Given the description of an element on the screen output the (x, y) to click on. 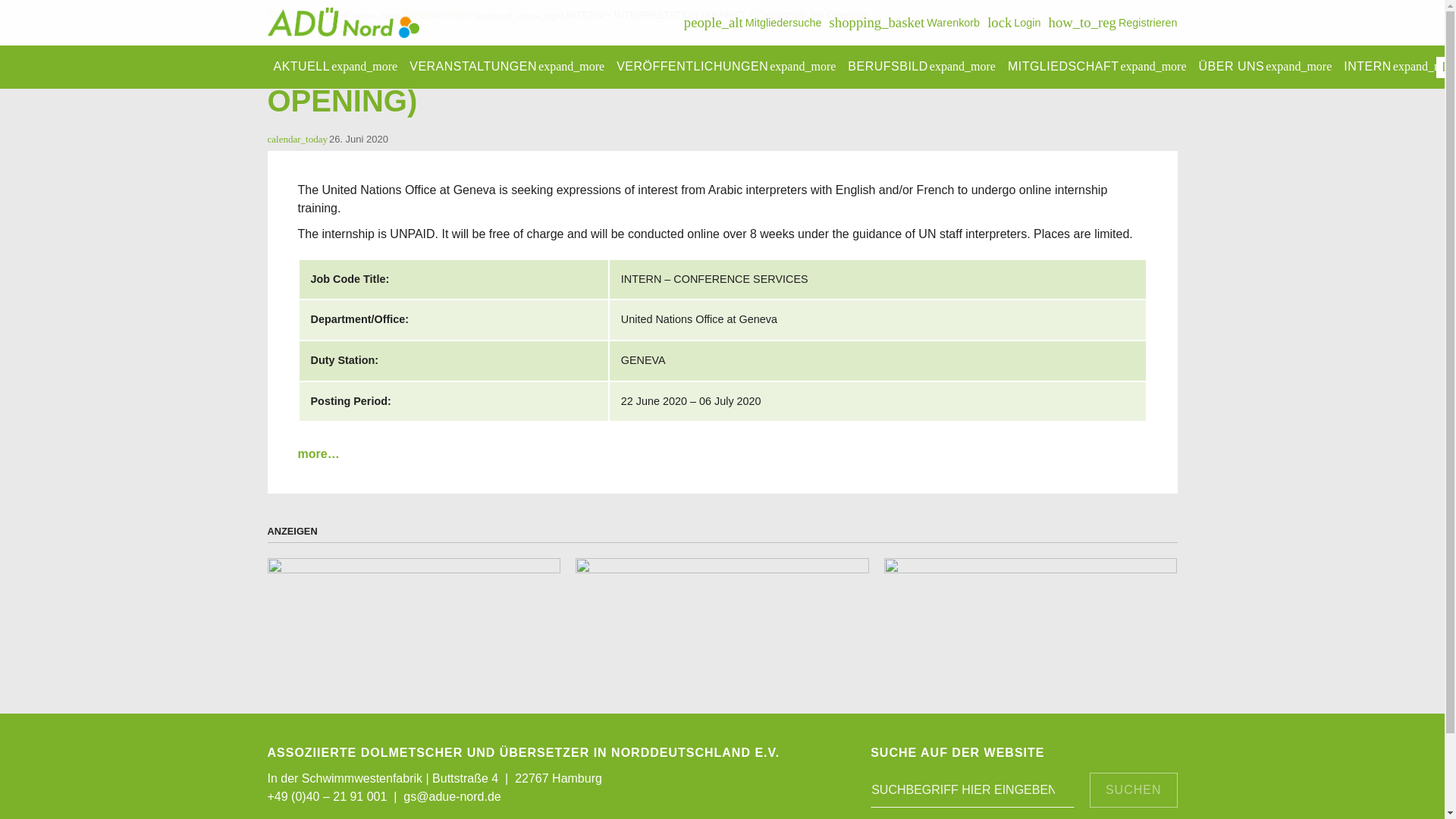
AKTUELL (334, 66)
VERANSTALTUNGEN (1014, 22)
